Given the description of an element on the screen output the (x, y) to click on. 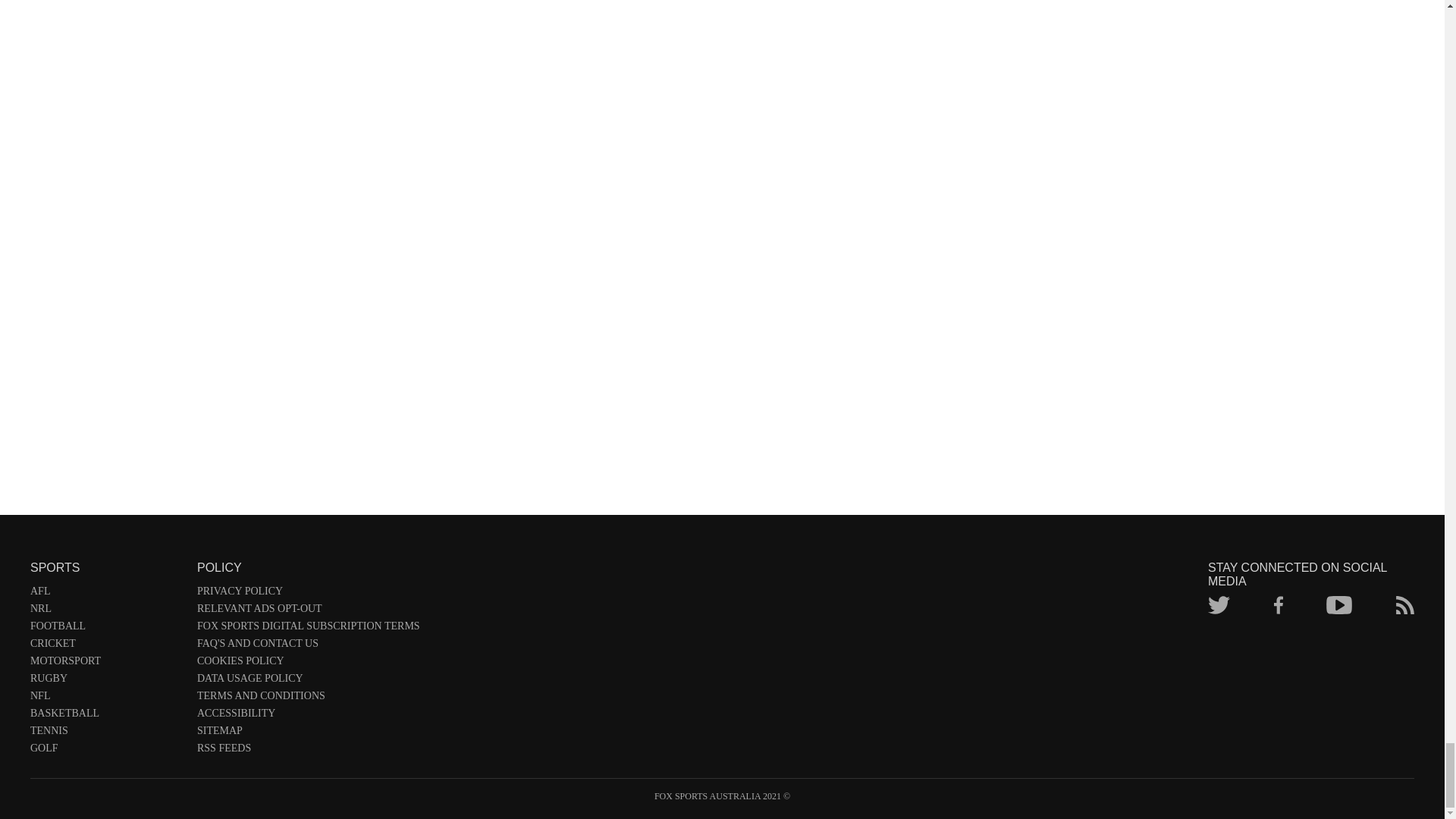
FOX SPORTS DIGITAL SUBSCRIPTION TERMS (308, 628)
NFL (106, 698)
FOOTBALL (106, 628)
RSS FEEDS (308, 751)
COOKIES POLICY (308, 663)
BASKETBALL (106, 715)
DATA USAGE POLICY (308, 681)
RUGBY (106, 681)
MOTORSPORT (106, 663)
PRIVACY POLICY (308, 593)
SITEMAP (308, 733)
ACCESSIBILITY (308, 715)
TERMS AND CONDITIONS (308, 698)
CRICKET (106, 646)
RELEVANT ADS OPT-OUT (308, 610)
